Given the description of an element on the screen output the (x, y) to click on. 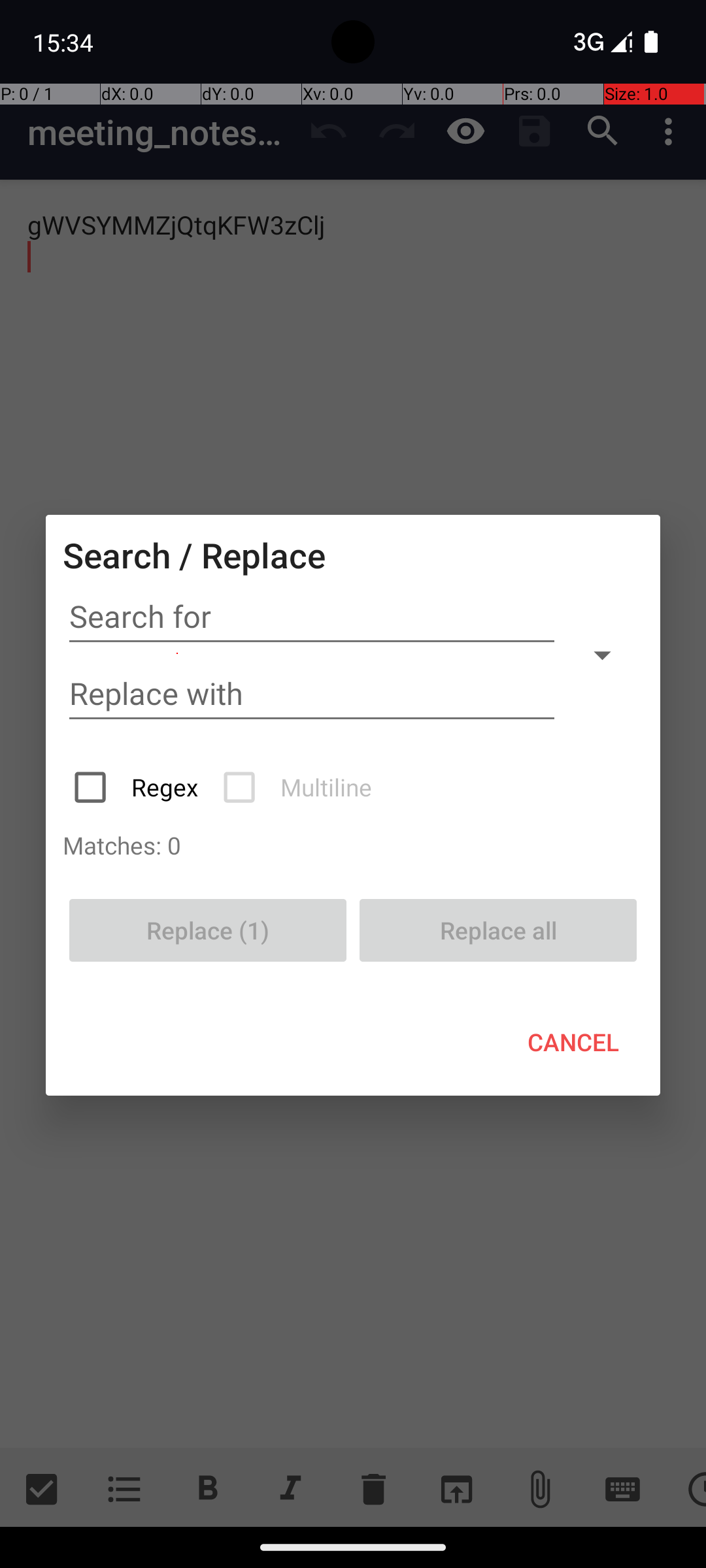
Search / Replace Element type: android.widget.TextView (193, 554)
Search for Element type: android.widget.EditText (311, 616)
Replace with Element type: android.widget.EditText (311, 693)
Choose format Element type: android.widget.TextView (601, 654)
Regex Element type: android.widget.CheckBox (136, 786)
Multiline Element type: android.widget.CheckBox (298, 786)
Matches: 0 Element type: android.widget.TextView (352, 844)
Replace (1) Element type: android.widget.Button (207, 930)
Replace all Element type: android.widget.Button (498, 930)
